Given the description of an element on the screen output the (x, y) to click on. 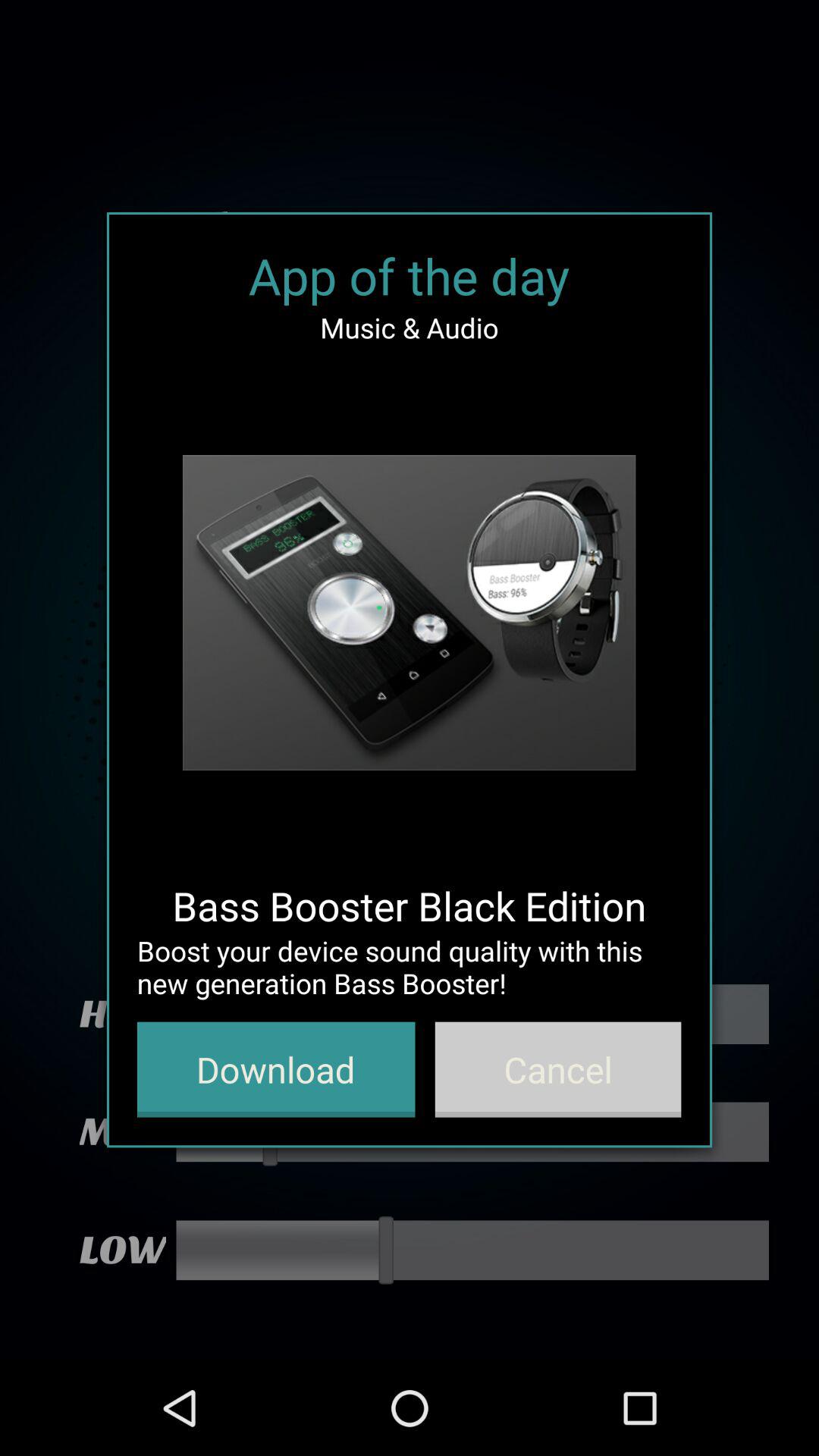
open cancel button (558, 1069)
